Given the description of an element on the screen output the (x, y) to click on. 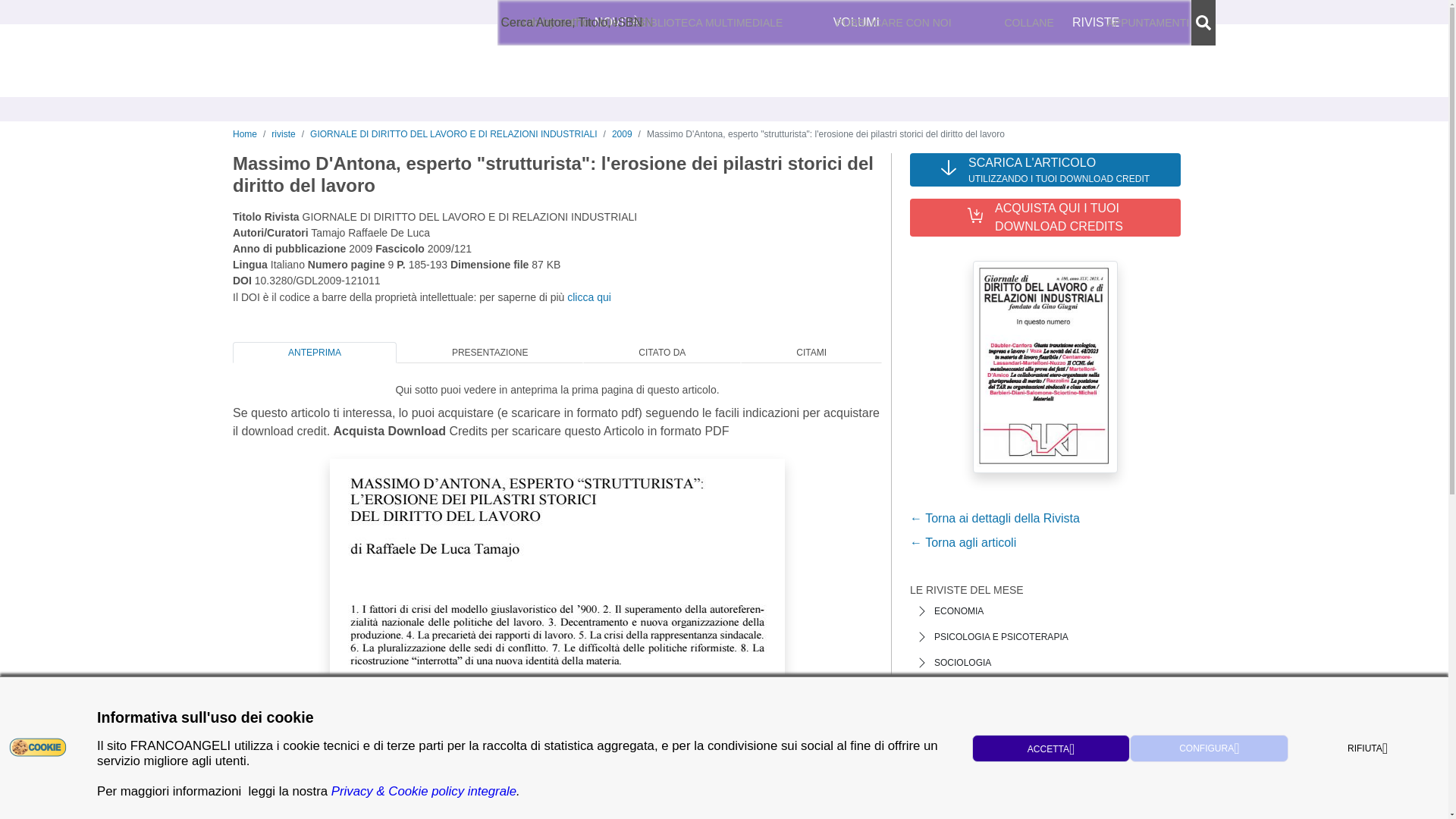
Accedi (997, 22)
BIBLIOTECA MULTIMEDIALE (711, 22)
PUBBLICARE CON NOI (892, 22)
APPUNTAMENTI (1147, 22)
Ricerca Avanzata (567, 22)
Carrello (1170, 22)
chi siamo (525, 23)
Preferiti (1082, 22)
aiuto (619, 23)
COLLANE (1029, 22)
ENG (919, 22)
CookieMan BY ML informatica (37, 746)
contatti (577, 23)
